Given the description of an element on the screen output the (x, y) to click on. 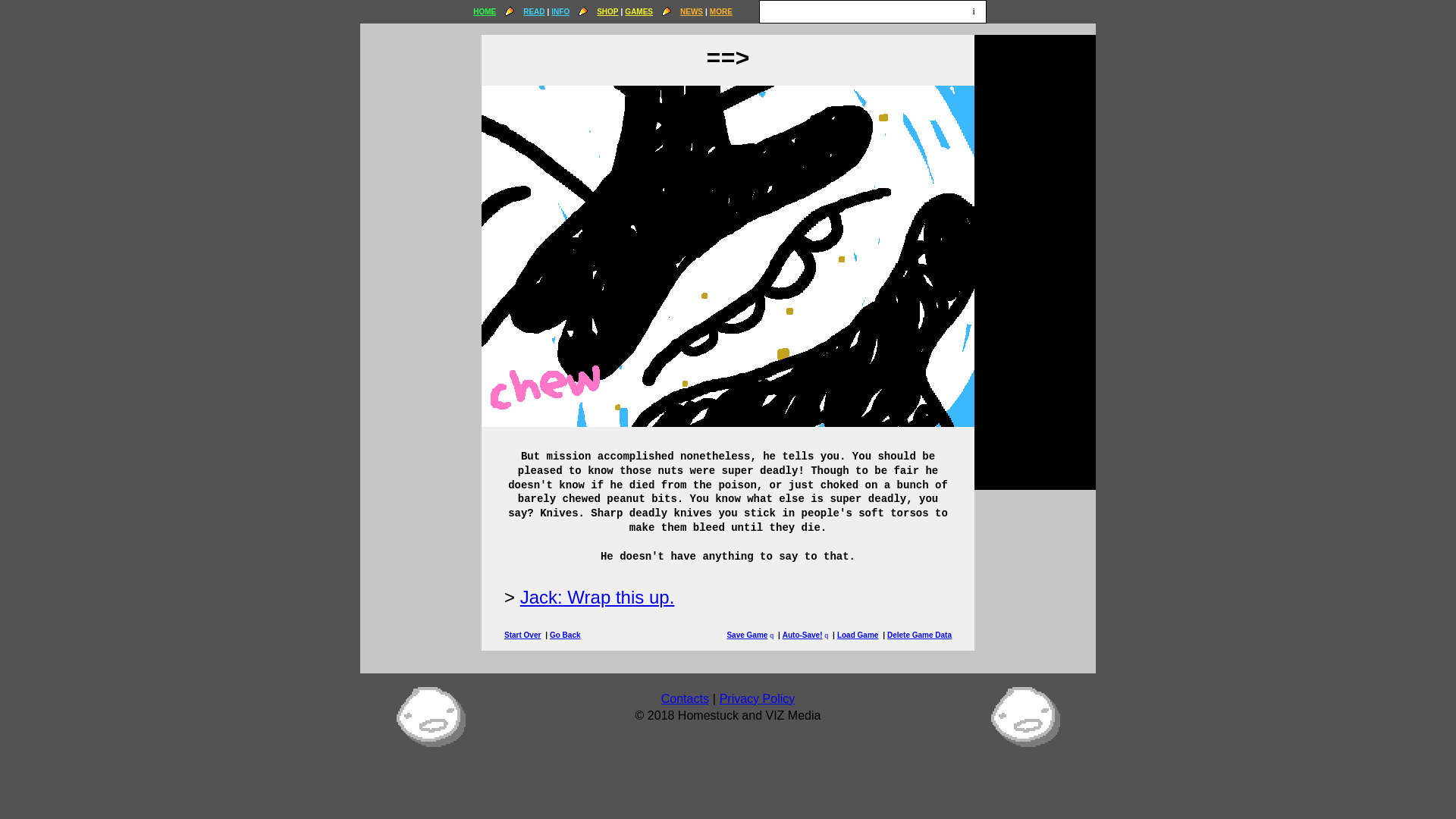
HOME (484, 11)
NEWS (691, 11)
Save Game (746, 634)
Delete Game Data (919, 634)
GAMES (638, 11)
Start Over (521, 634)
Go Back (565, 634)
Privacy Policy (756, 698)
INFO (560, 11)
Load Game (857, 634)
Jack: Wrap this up. (597, 597)
READ (533, 11)
Auto-Save! (802, 634)
SHOP (606, 11)
Contacts (685, 698)
